Given the description of an element on the screen output the (x, y) to click on. 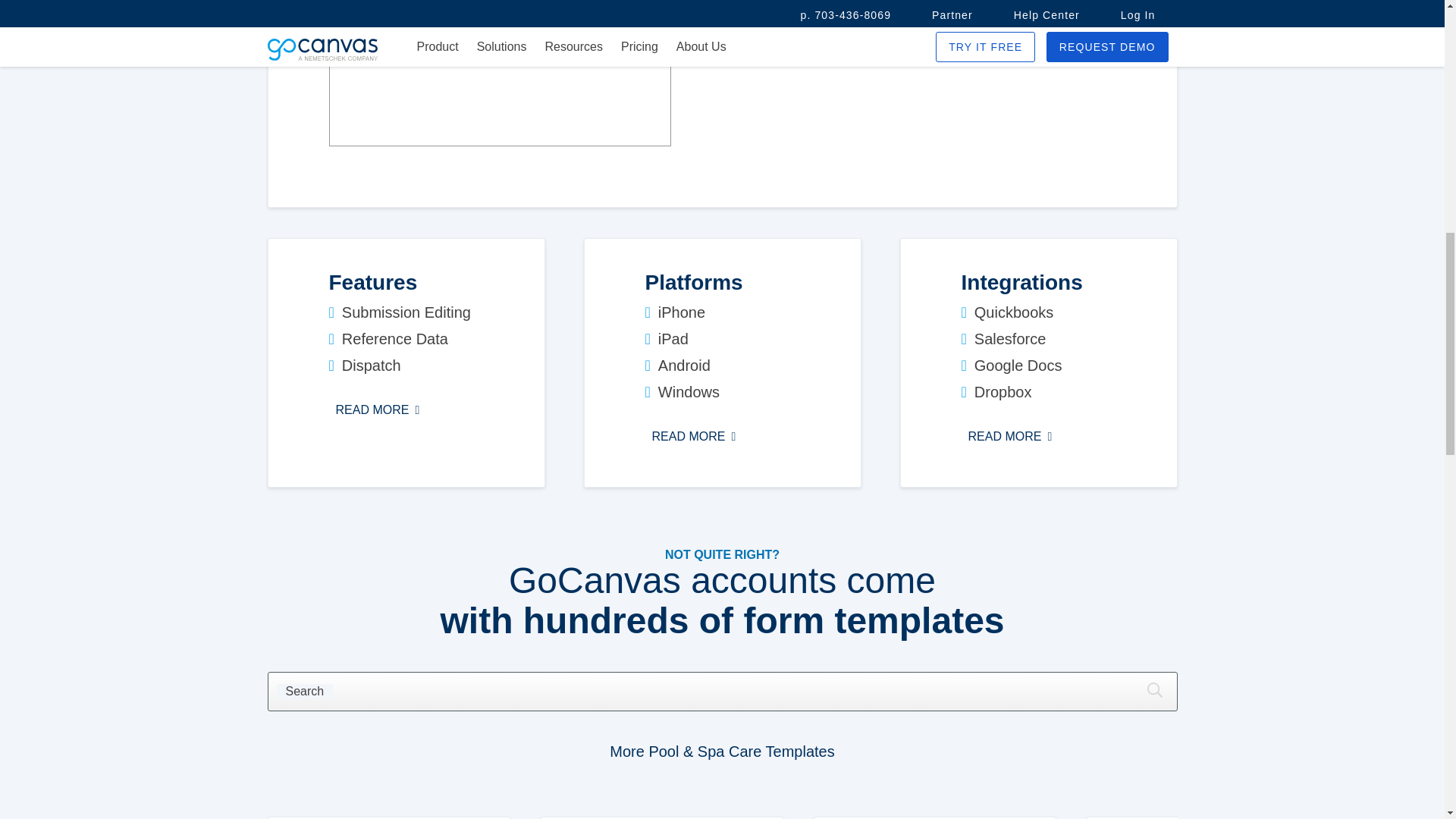
READ MORE (1009, 436)
READ MORE (377, 409)
READ MORE (693, 436)
